Given the description of an element on the screen output the (x, y) to click on. 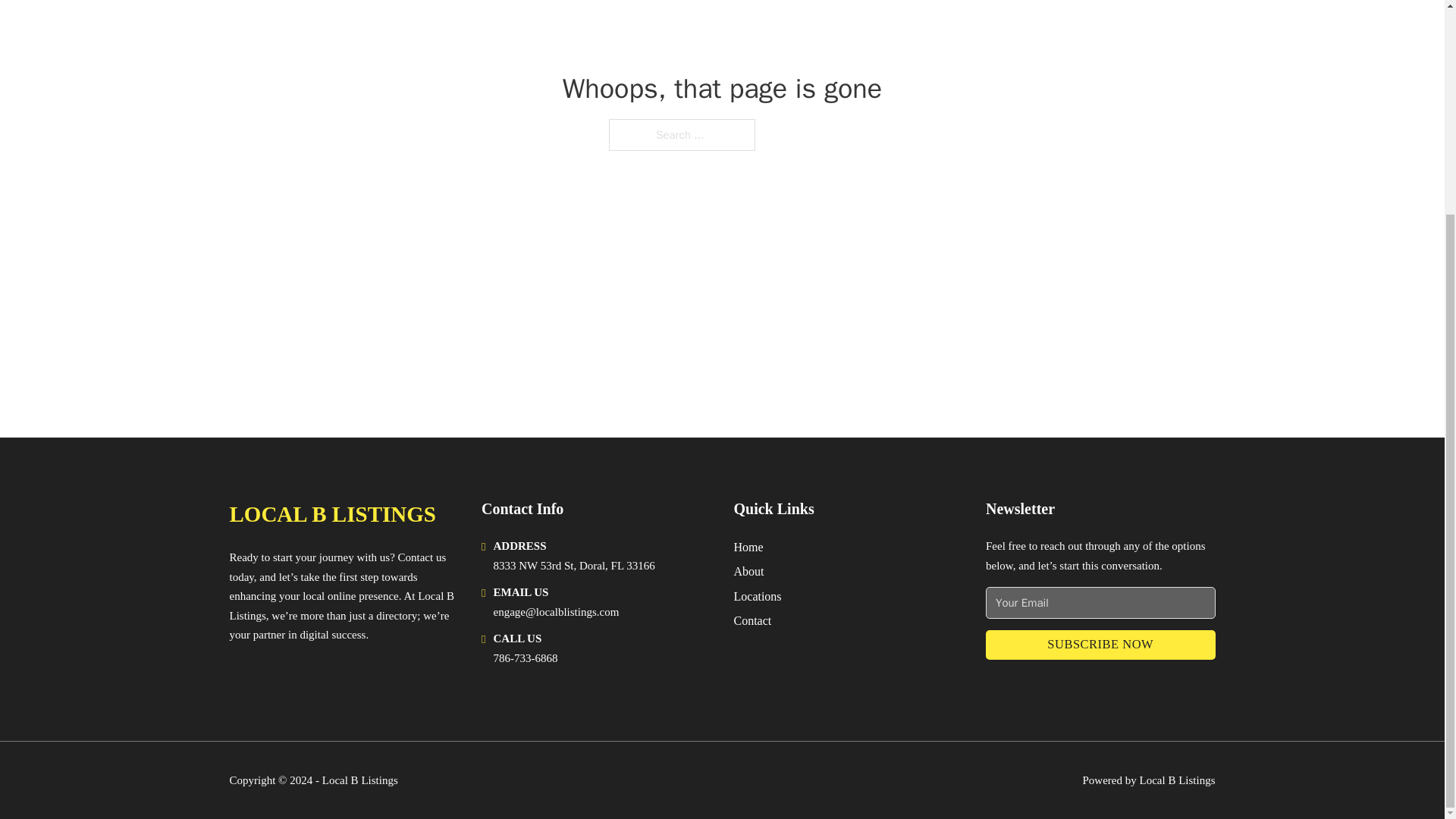
786-733-6868 (525, 657)
About (748, 571)
Home (747, 547)
SUBSCRIBE NOW (1100, 644)
LOCAL B LISTINGS (331, 514)
Locations (757, 596)
Contact (752, 620)
